Given the description of an element on the screen output the (x, y) to click on. 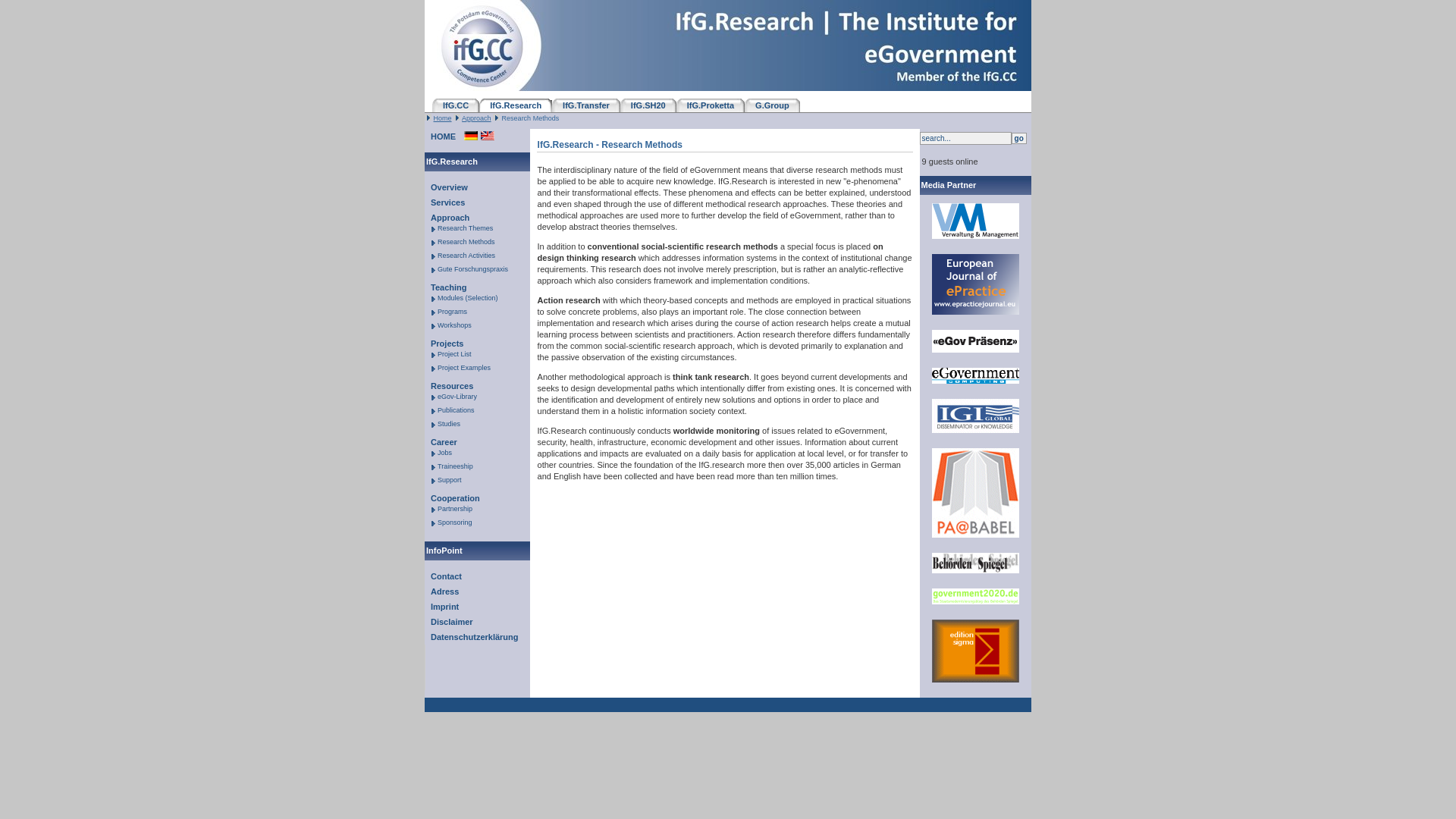
Research Methods Element type: text (465, 241)
Publications Element type: text (454, 410)
Cooperation Element type: text (452, 497)
Research Themes Element type: text (463, 228)
G.Group Element type: text (772, 105)
Programs Element type: text (451, 311)
Imprint Element type: text (441, 606)
Support Element type: text (448, 479)
English (United Kingdom) Element type: hover (487, 135)
IfG.SH20 Element type: text (648, 105)
go Element type: text (1018, 138)
Approach Element type: text (446, 217)
Career Element type: text (440, 441)
Contact Element type: text (442, 575)
Traineeship Element type: text (454, 466)
Partnership Element type: text (453, 508)
IfG.CC Element type: text (455, 105)
Overview Element type: text (445, 186)
Modules (Selection) Element type: text (466, 297)
IfG.Research Element type: text (515, 105)
IfG.Transfer Element type: text (586, 105)
Project List Element type: text (453, 353)
HOME Element type: text (439, 136)
Teaching Element type: text (445, 286)
Research Activities Element type: text (465, 255)
Services Element type: text (444, 202)
Home Element type: text (442, 118)
Deutsch (DE-CH-AT) Element type: hover (470, 135)
Workshops Element type: text (453, 325)
Approach Element type: text (476, 118)
Adress Element type: text (441, 591)
Sponsoring Element type: text (453, 522)
Jobs Element type: text (443, 452)
Gute Forschungspraxis Element type: text (471, 269)
Studies Element type: text (447, 423)
Resources Element type: text (448, 385)
eGov-Library Element type: text (455, 396)
Disclaimer Element type: text (448, 621)
IfG.Proketta Element type: text (710, 105)
Project Examples Element type: text (462, 367)
Projects Element type: text (443, 343)
